Given the description of an element on the screen output the (x, y) to click on. 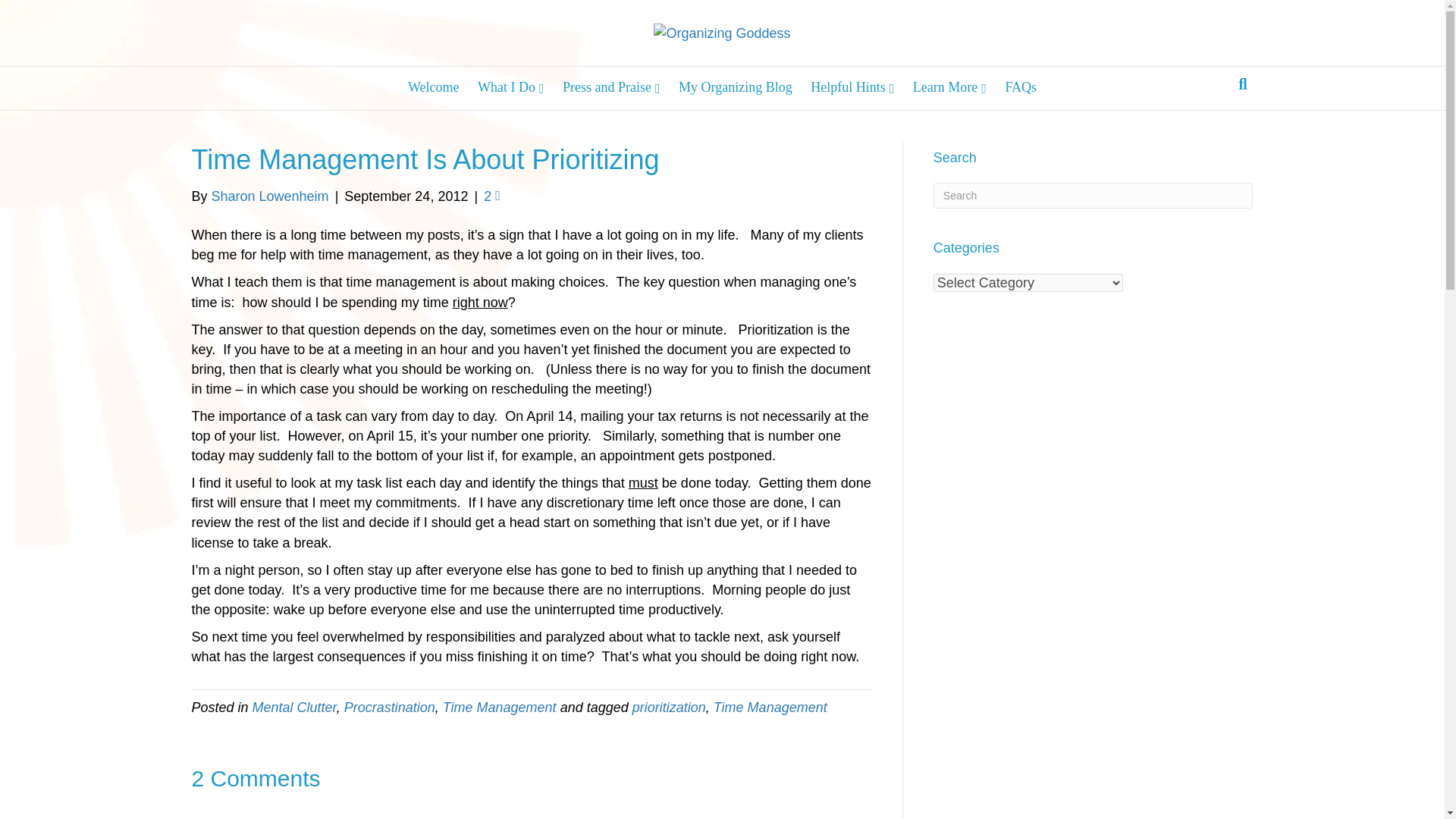
Sharon Lowenheim (270, 196)
2 (491, 196)
Time Management (770, 707)
Type and press Enter to search. (1093, 195)
Procrastination (389, 707)
Learn More (949, 87)
Mental Clutter (293, 707)
Time Management (499, 707)
prioritization (668, 707)
Helpful Hints (852, 87)
